Given the description of an element on the screen output the (x, y) to click on. 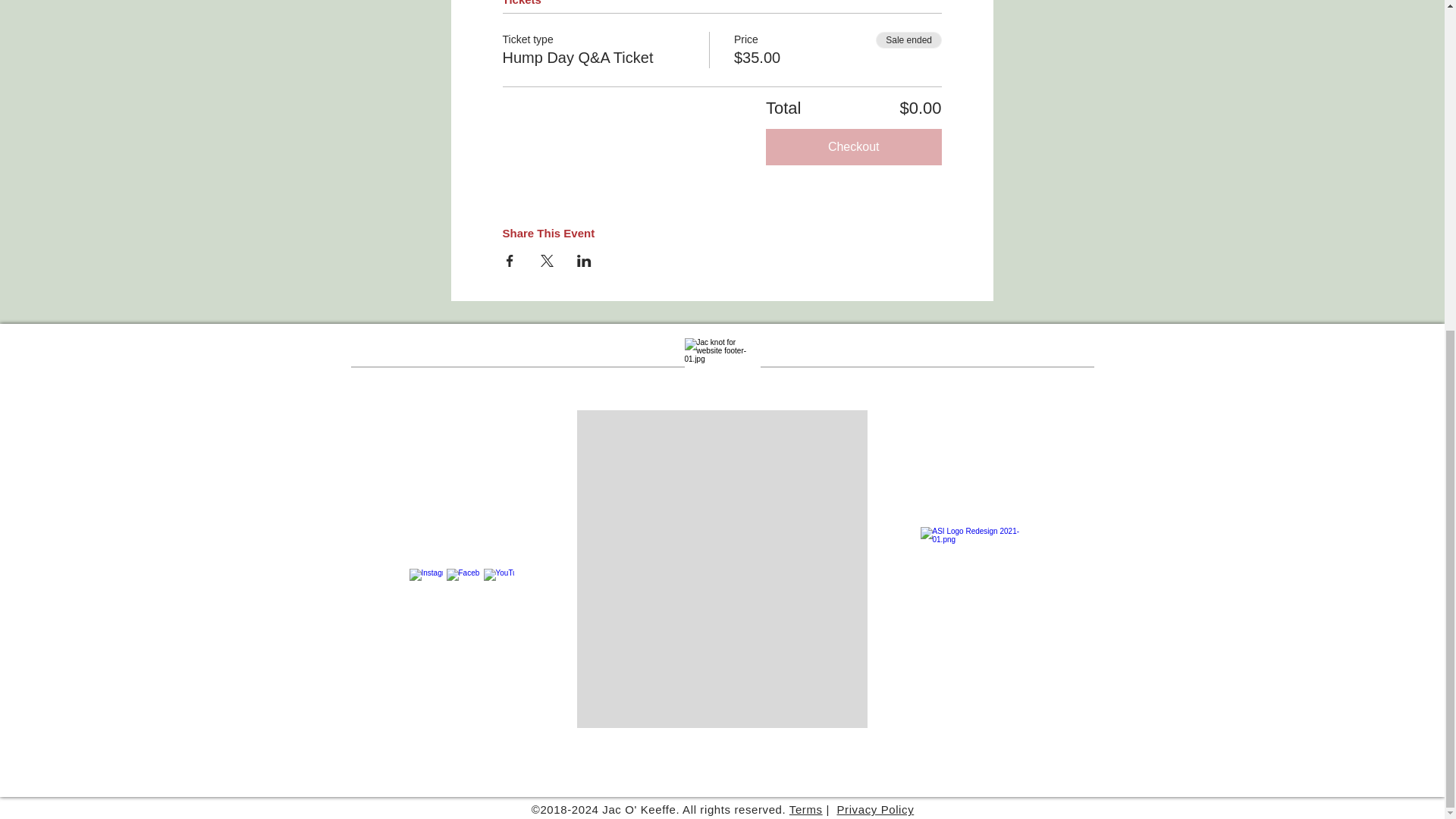
Privacy Policy (874, 809)
Terms (805, 809)
Checkout (853, 146)
